Given the description of an element on the screen output the (x, y) to click on. 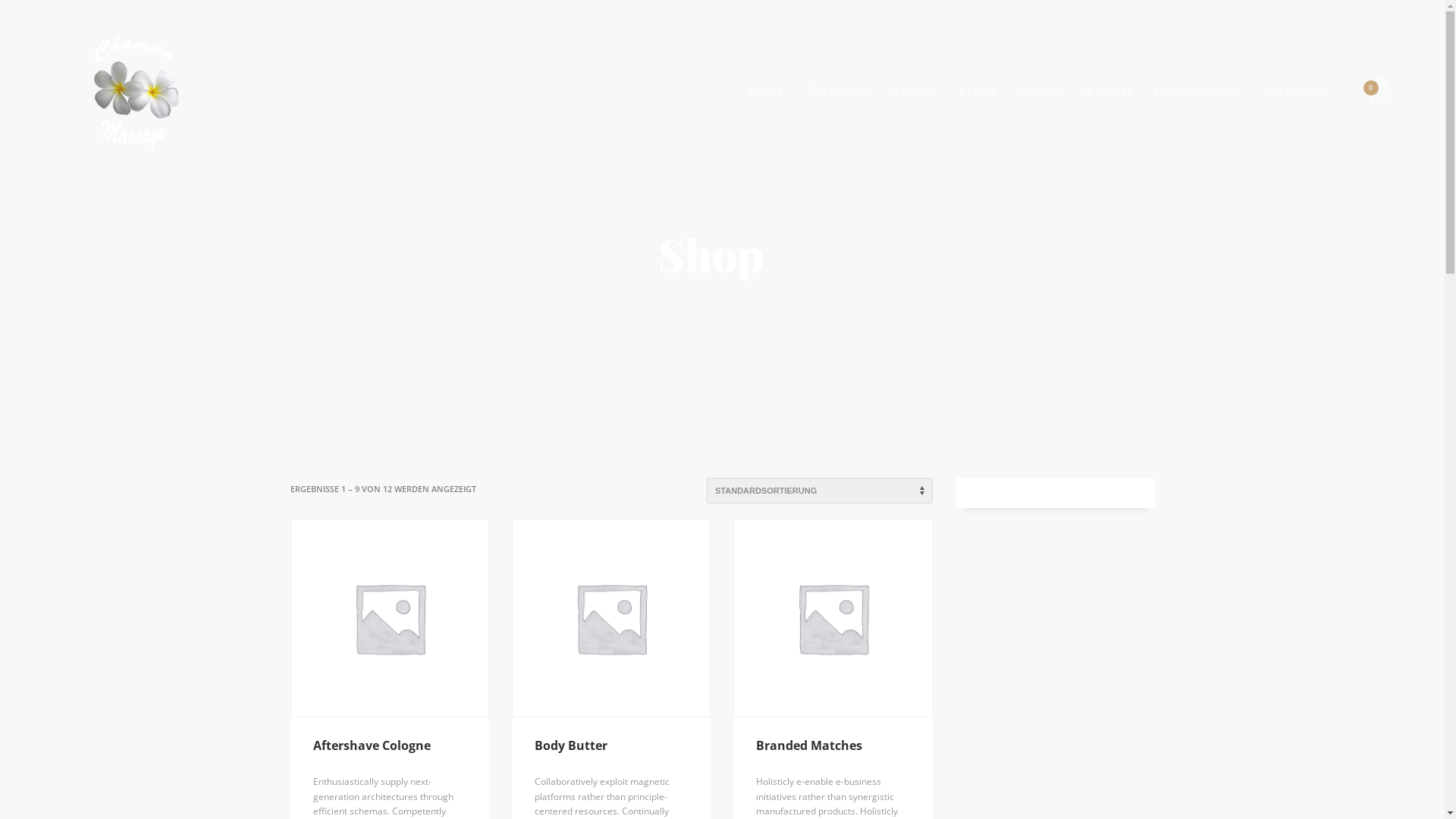
Anfahrt Element type: text (1041, 90)
HOME Element type: text (767, 90)
Online Termin Element type: text (1197, 90)
Auftragskonto ansehen Element type: hover (1379, 90)
Kontakt Element type: text (1109, 90)
Preise Element type: text (978, 90)
Massage Element type: text (914, 90)
Gutschein Element type: text (1293, 90)
